Given the description of an element on the screen output the (x, y) to click on. 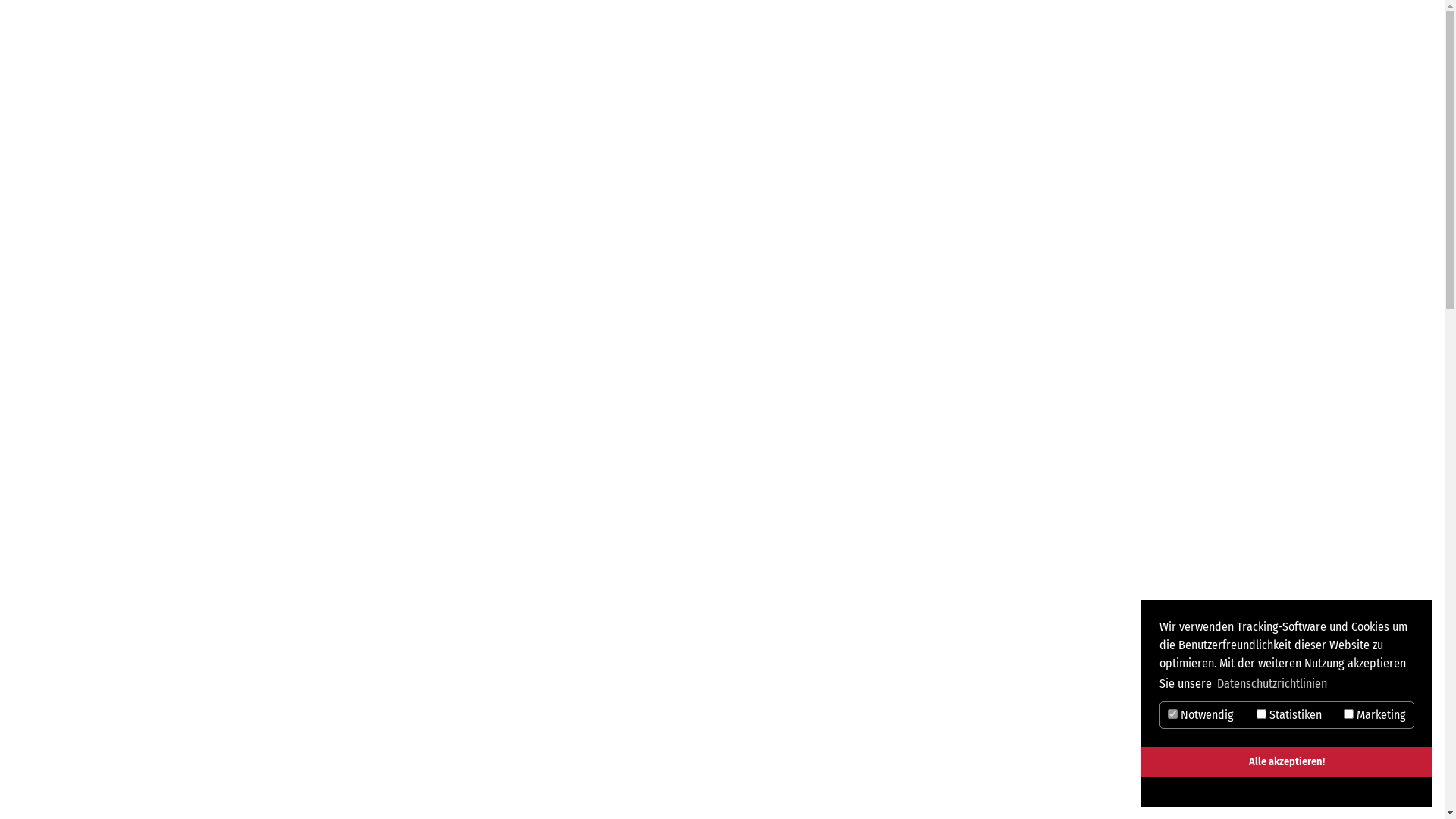
Ablehnen Element type: text (1359, 791)
Alle akzeptieren! Element type: text (1286, 761)
Datenschutzrichtlinien Element type: text (1271, 683)
Speichern Element type: text (1213, 791)
